Given the description of an element on the screen output the (x, y) to click on. 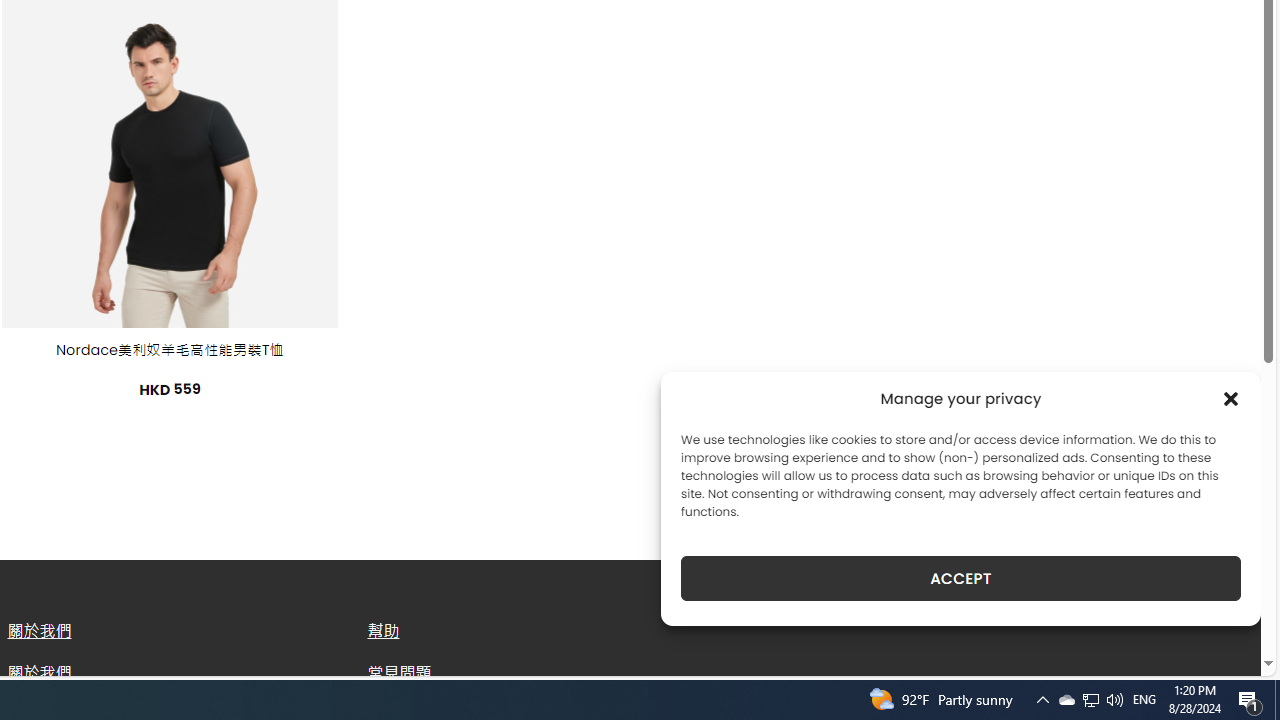
Go to top (1220, 647)
Class: cmplz-close (1231, 398)
ACCEPT (960, 578)
